Given the description of an element on the screen output the (x, y) to click on. 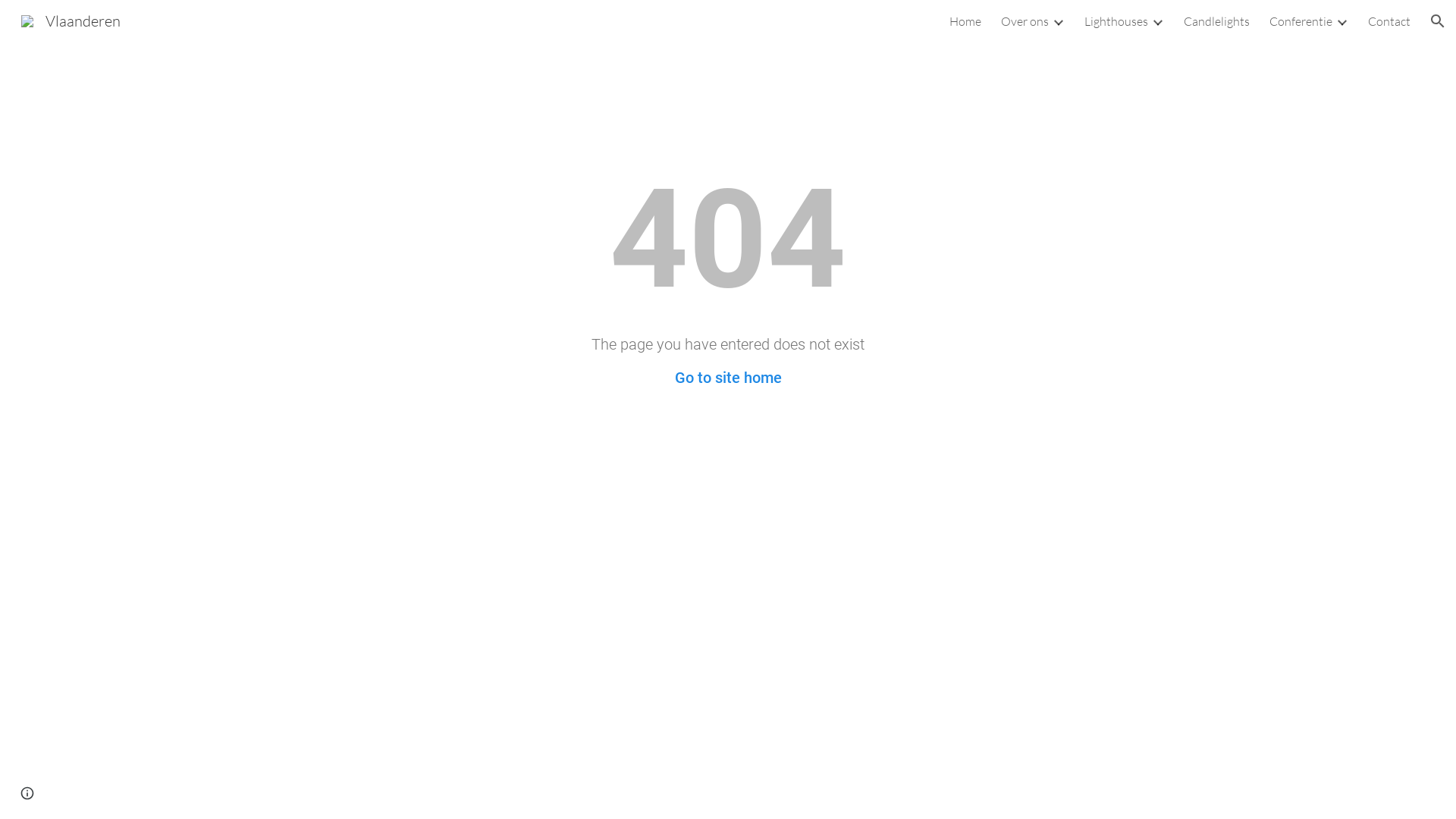
Go to site home Element type: text (727, 377)
Expand/Collapse Element type: hover (1341, 20)
Candlelights Element type: text (1216, 20)
Over ons Element type: text (1024, 20)
Conferentie Element type: text (1300, 20)
Contact Element type: text (1389, 20)
Vlaanderen Element type: text (70, 18)
Expand/Collapse Element type: hover (1057, 20)
Expand/Collapse Element type: hover (1157, 20)
Home Element type: text (965, 20)
Lighthouses Element type: text (1116, 20)
